Given the description of an element on the screen output the (x, y) to click on. 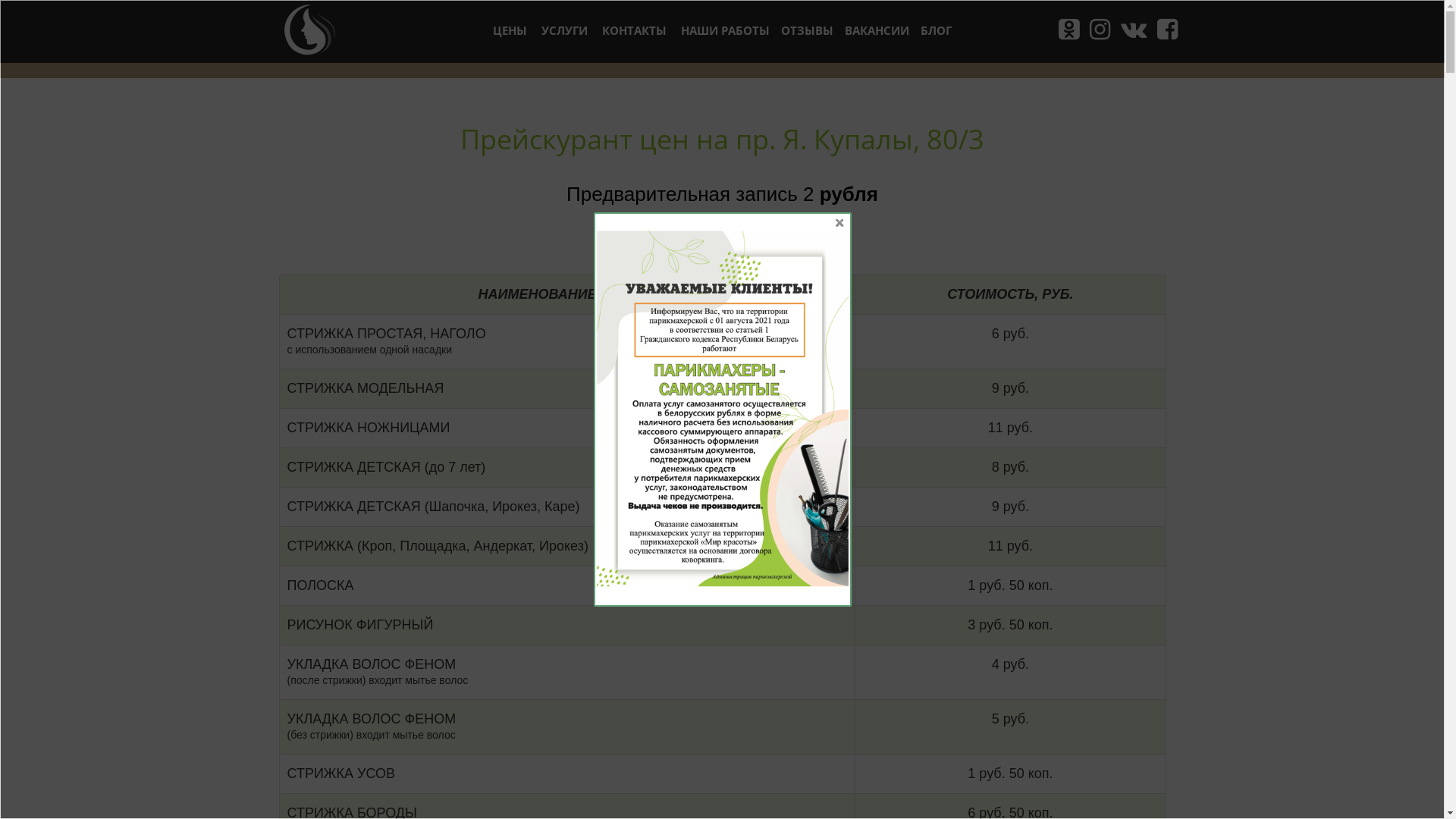
X Element type: text (838, 222)
